Given the description of an element on the screen output the (x, y) to click on. 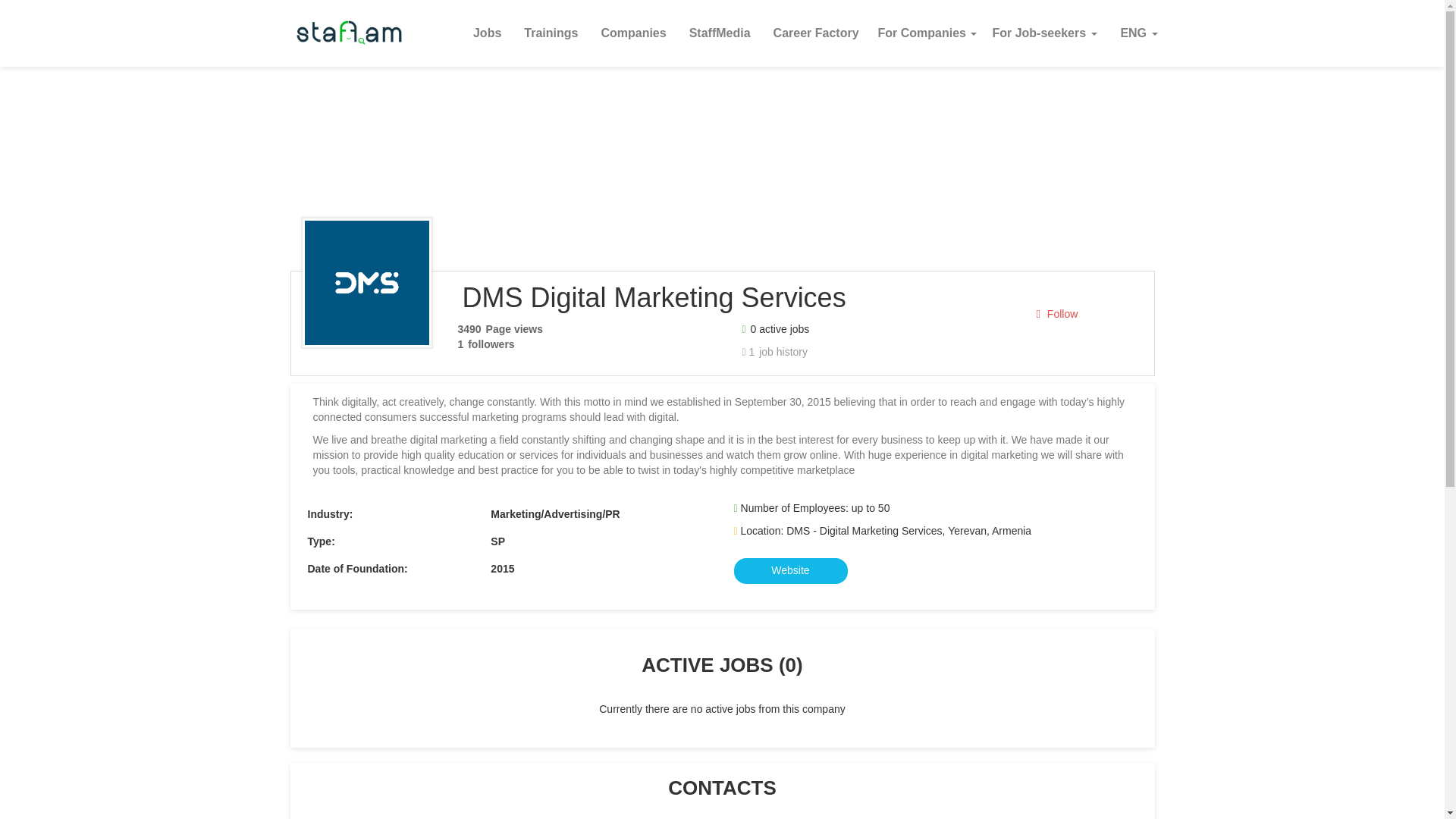
For Companies (927, 33)
StaffMedia (719, 33)
Companies (633, 33)
Trainings (550, 33)
For Job-seekers (1043, 33)
Jobs (486, 33)
Career Factory (815, 33)
